Given the description of an element on the screen output the (x, y) to click on. 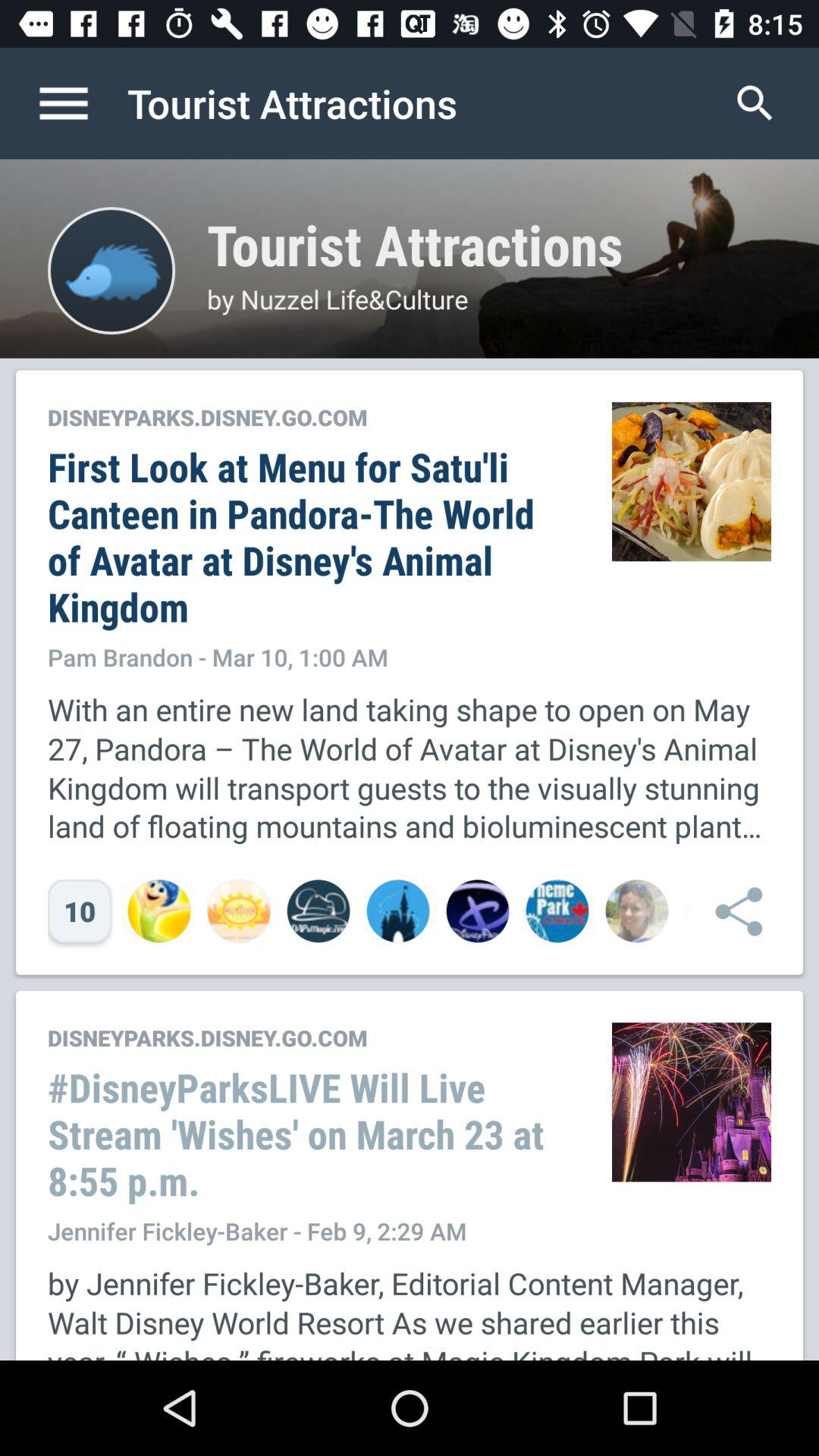
turn off item below the with an entire icon (731, 910)
